Given the description of an element on the screen output the (x, y) to click on. 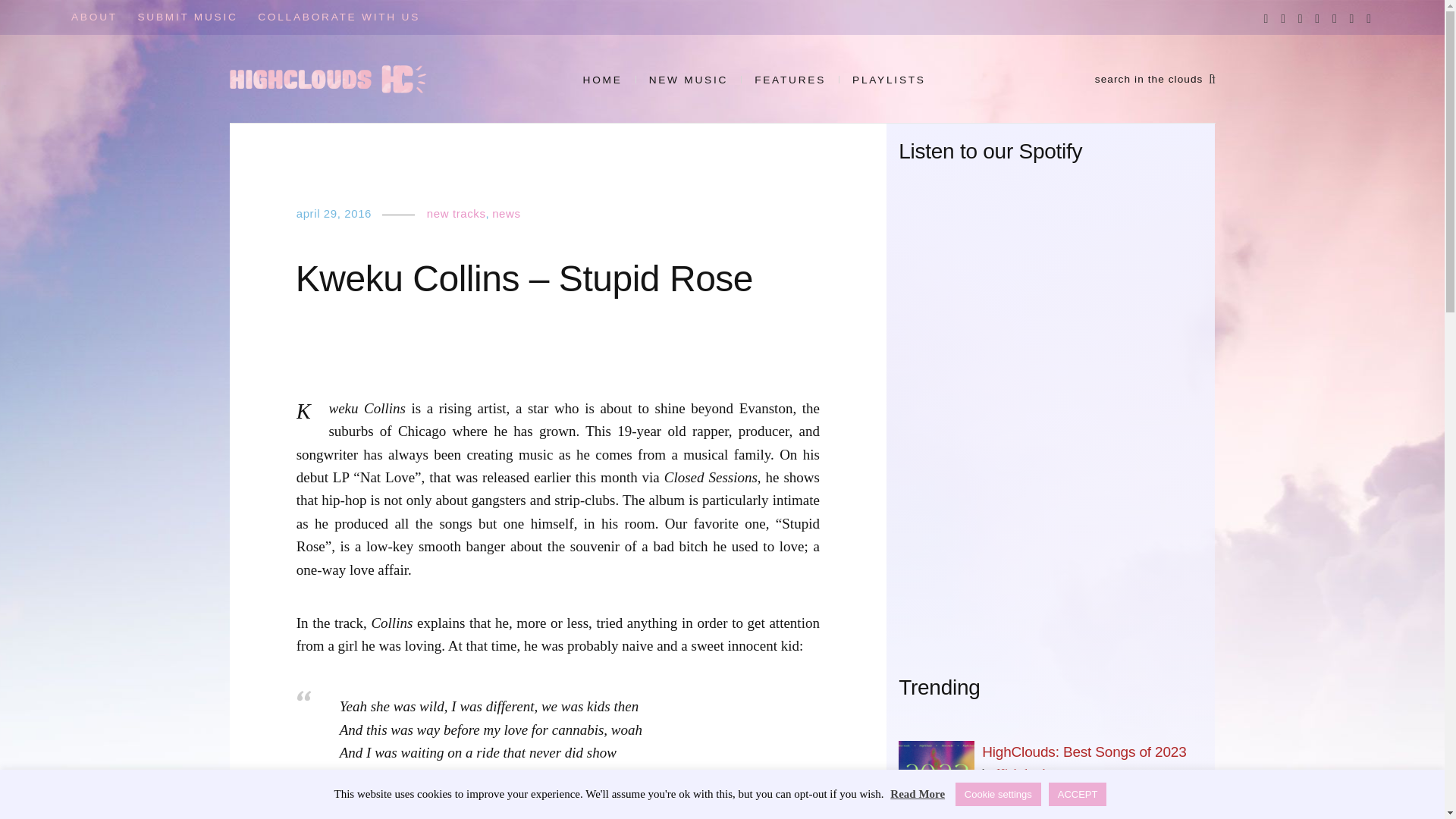
Playlists (889, 79)
search in the clouds (1154, 79)
Search (42, 22)
new tracks (456, 213)
ABOUT (94, 16)
COLLABORATE WITH US (338, 16)
NEW MUSIC (688, 79)
SUBMIT MUSIC (186, 16)
HOME (608, 79)
HOME (608, 79)
FEATURES (789, 79)
FEATURES (789, 79)
PLAYLISTS (889, 79)
NEW MUSIC (688, 79)
news (505, 213)
